Given the description of an element on the screen output the (x, y) to click on. 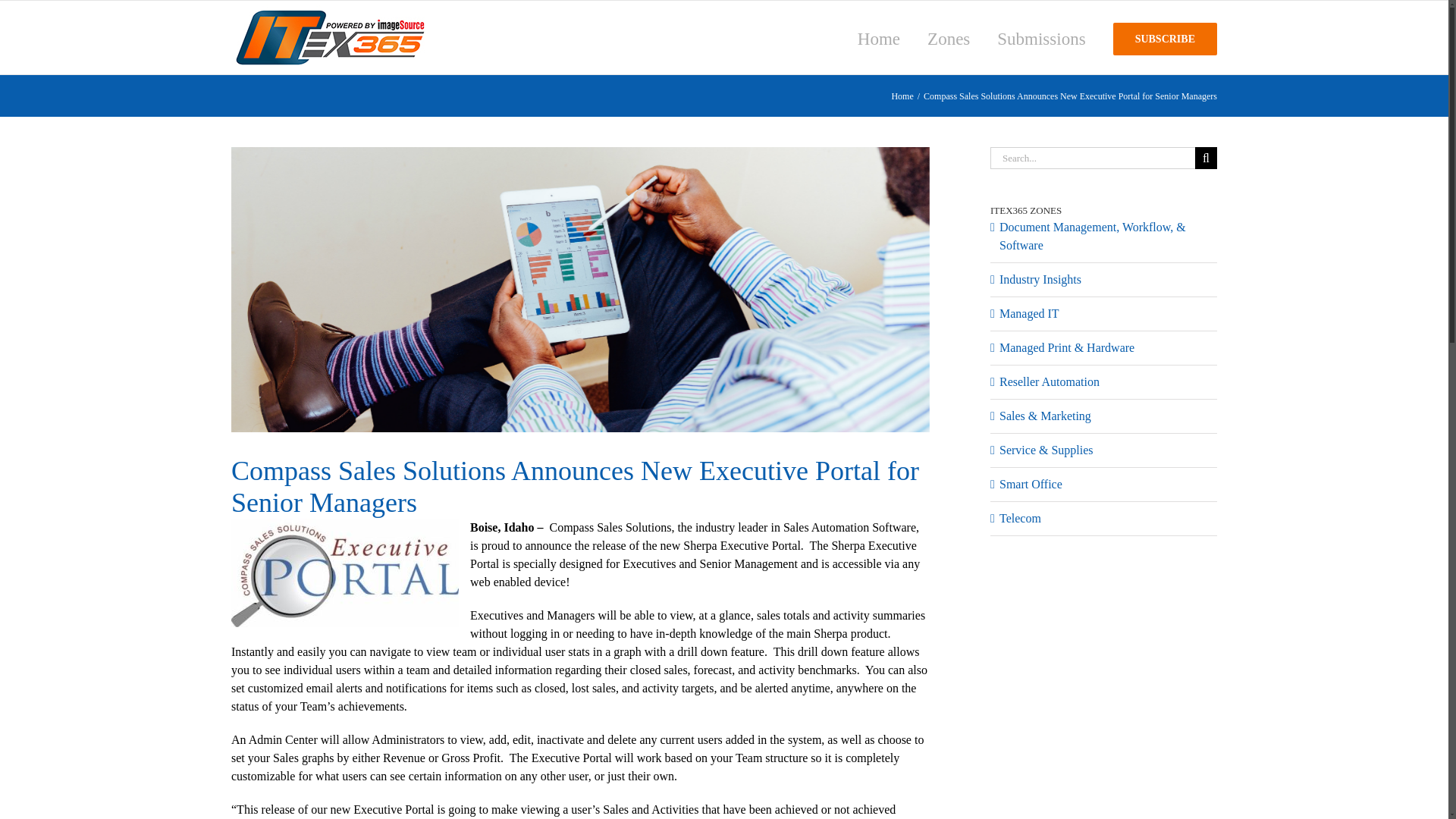
Submissions (1040, 37)
SUBSCRIBE (1165, 37)
Compass Executive Portal (344, 572)
Home (901, 95)
